Given the description of an element on the screen output the (x, y) to click on. 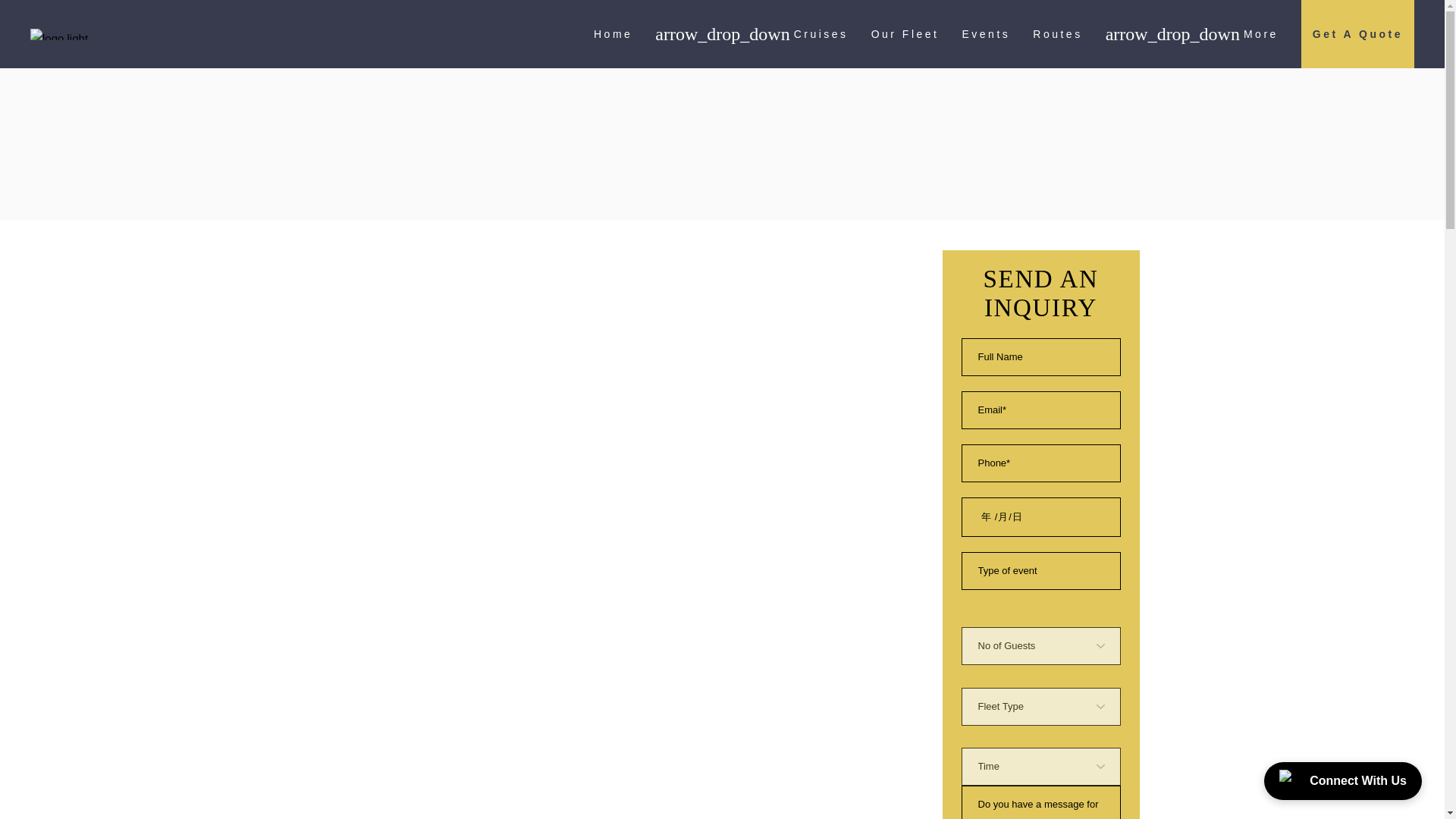
Our Fleet (904, 33)
Get A Quote (1357, 33)
